Given the description of an element on the screen output the (x, y) to click on. 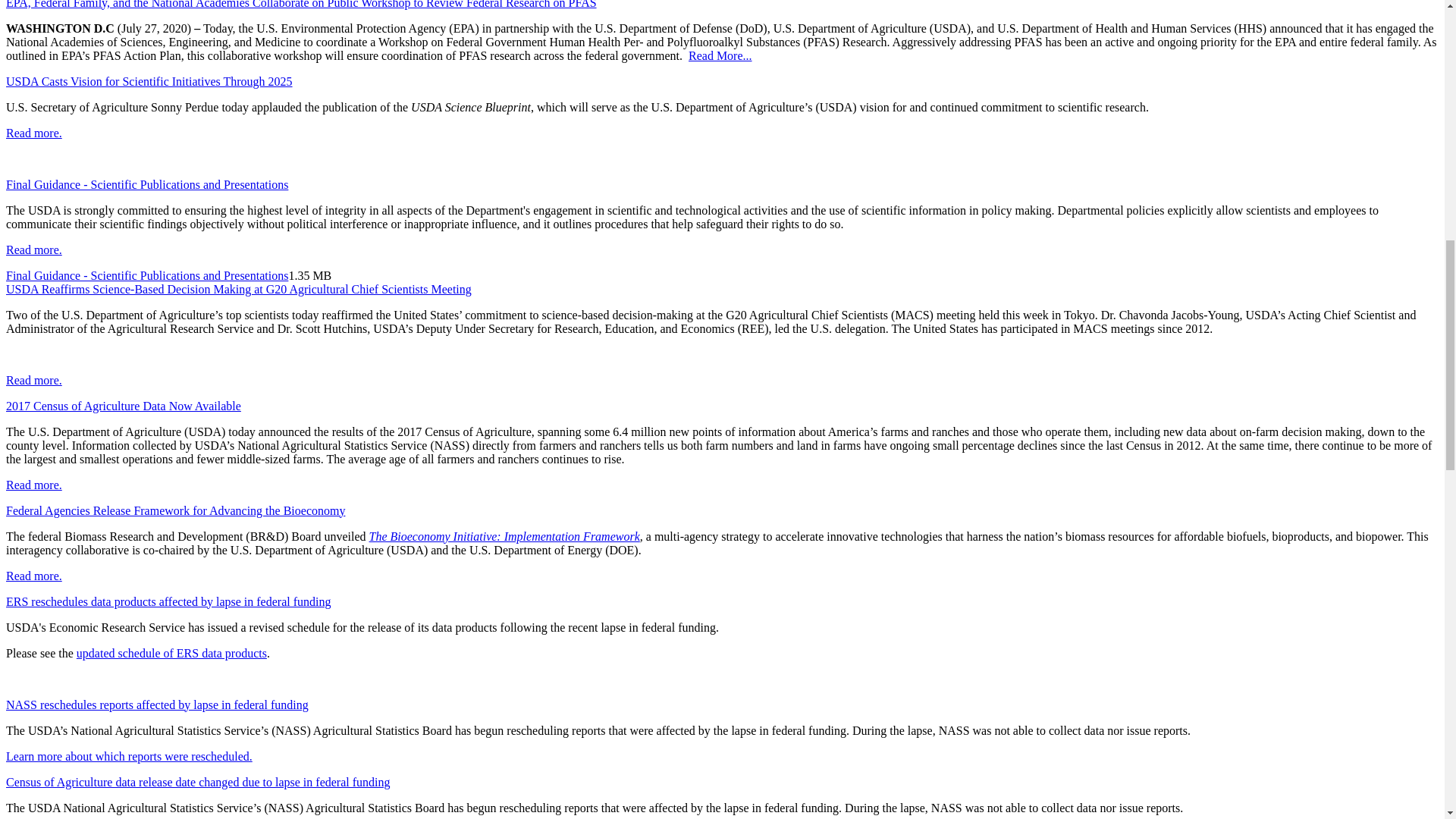
Read more. (33, 132)
Open file in new window (146, 275)
Read More... (720, 55)
USDA Casts Vision for Scientific Initiatives Through 2025 (148, 81)
Final Guidance - Scientific Publications and Presentations (146, 275)
Read more. (33, 379)
Read more. (33, 249)
2017 Census of Agriculture Data Now Available (123, 405)
